Given the description of an element on the screen output the (x, y) to click on. 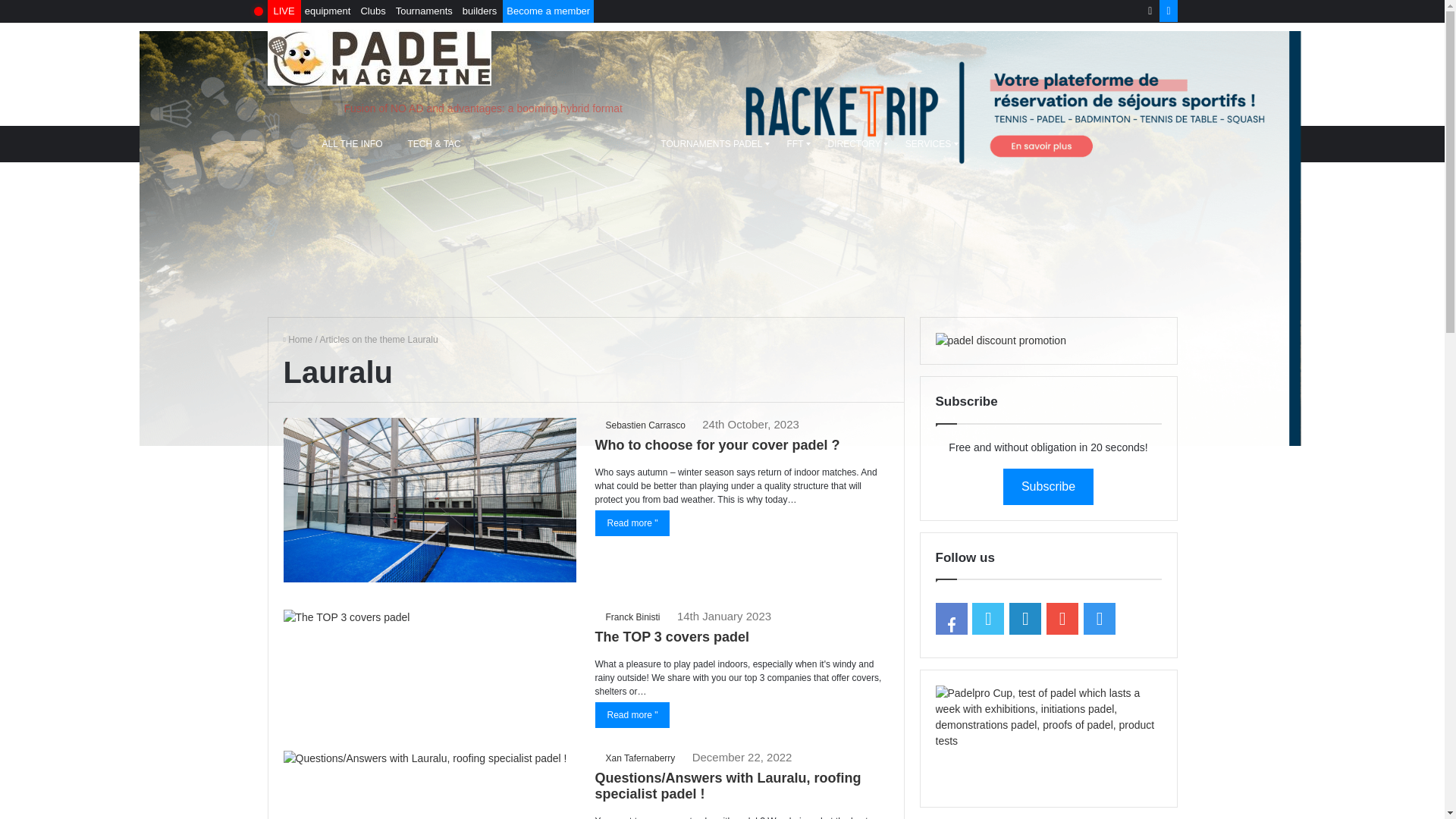
Become a member (548, 11)
Tournaments (424, 11)
HOME (289, 144)
equipment (328, 11)
ALL THE INFO (353, 144)
PadelProCup (1048, 738)
Padel Magazine (298, 339)
builders (479, 11)
Clubs (372, 11)
LIVE (283, 11)
NEWS CLUBS (611, 144)
Fusion of NO AD and advantages: a booming hybrid format (758, 108)
